Given the description of an element on the screen output the (x, y) to click on. 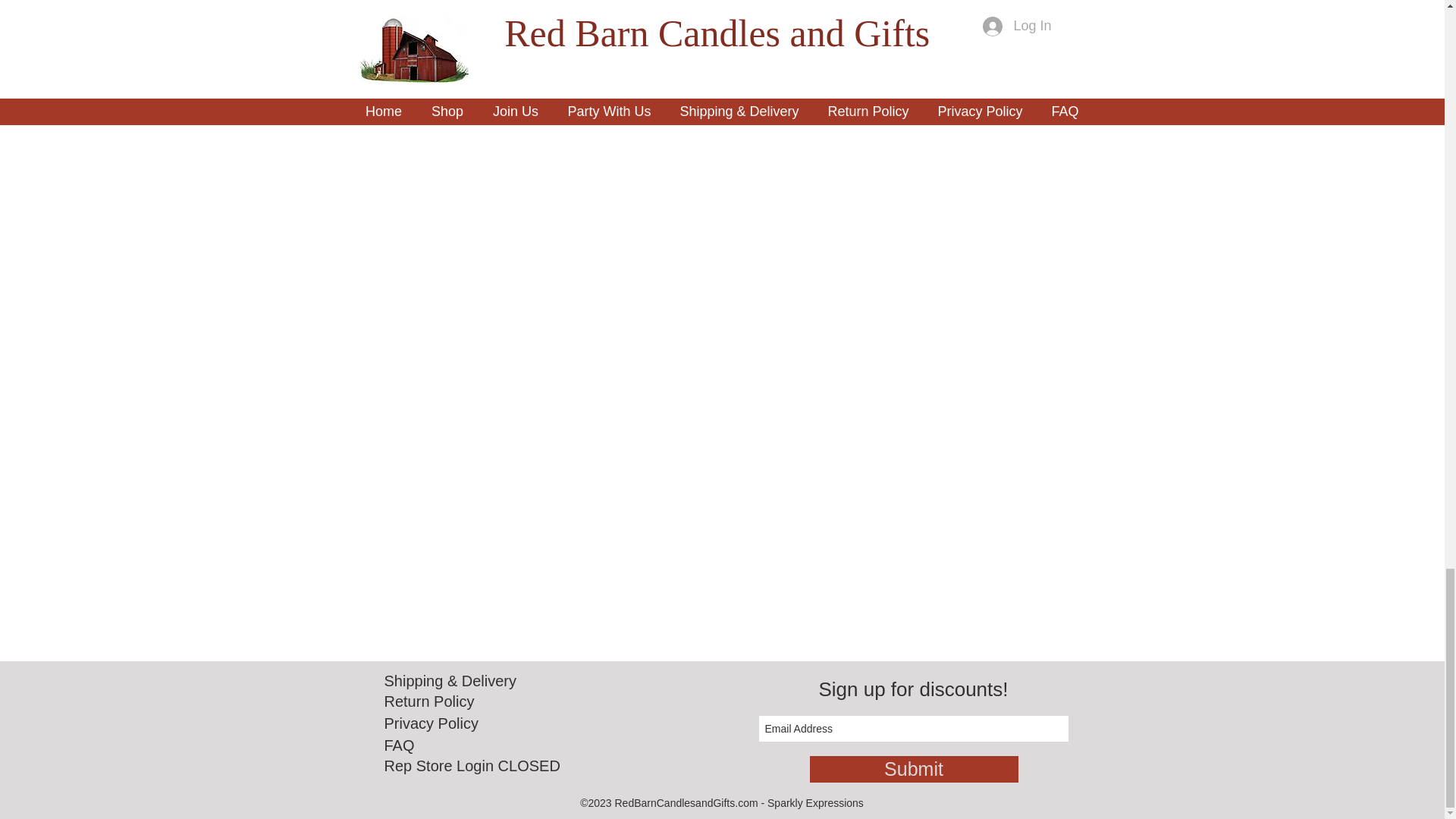
Return Policy (429, 701)
Submit (913, 768)
Privacy Policy (430, 723)
Rep Store Login CLOSED (471, 765)
FAQ (398, 745)
